Given the description of an element on the screen output the (x, y) to click on. 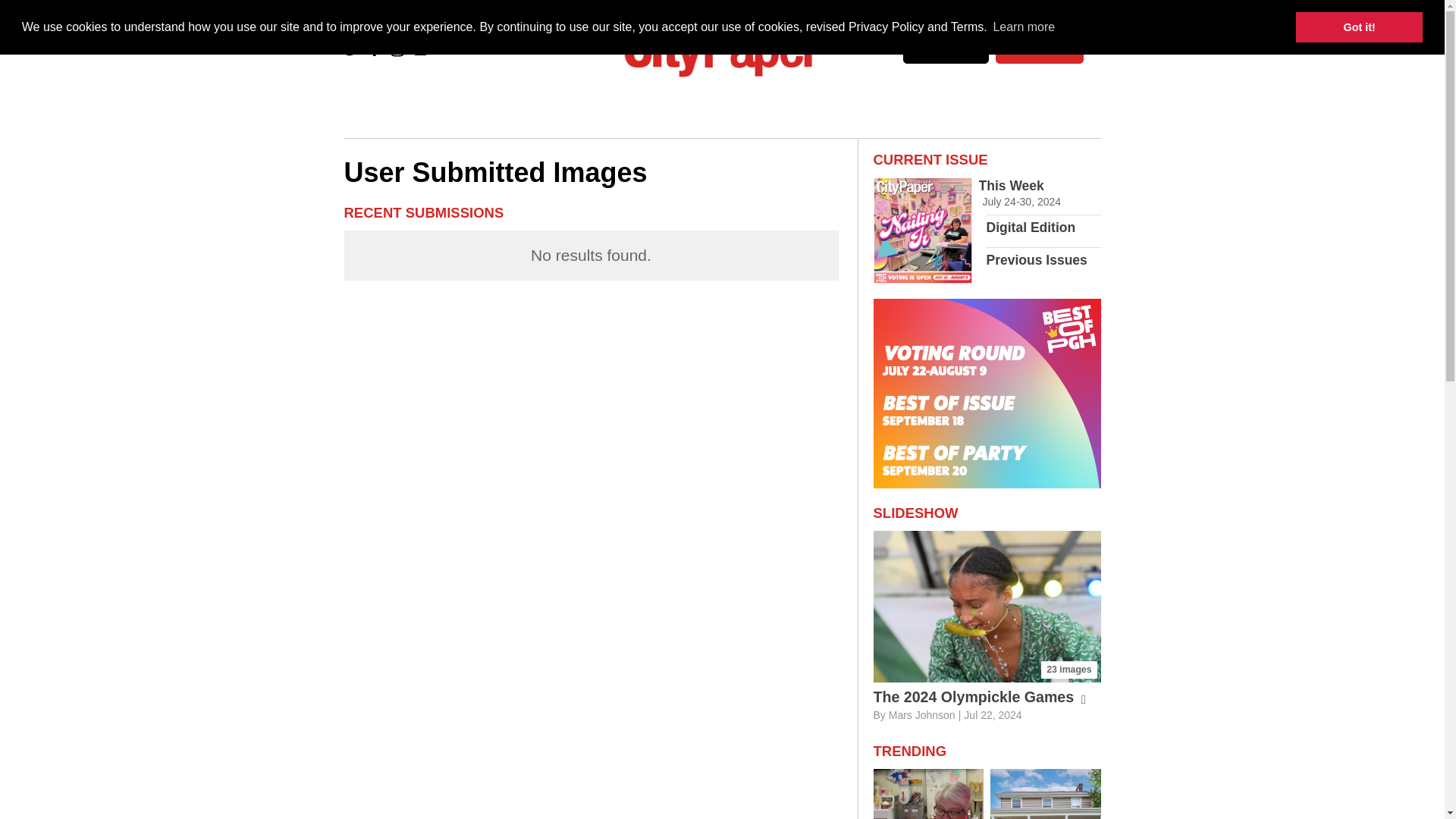
Log in (420, 48)
Pittsburgh City Paper (722, 49)
Instagram (398, 48)
Newsletters (945, 49)
This Week (1010, 185)
Twitter (351, 48)
The 2024 Olympickle Games (979, 696)
SLIDESHOW (915, 512)
CURRENT ISSUE (930, 159)
Learn more (1023, 26)
Got it! (1358, 27)
Facebook (374, 48)
Previous Issues (1037, 259)
Digital Edition (1031, 227)
Membership (1039, 49)
